Given the description of an element on the screen output the (x, y) to click on. 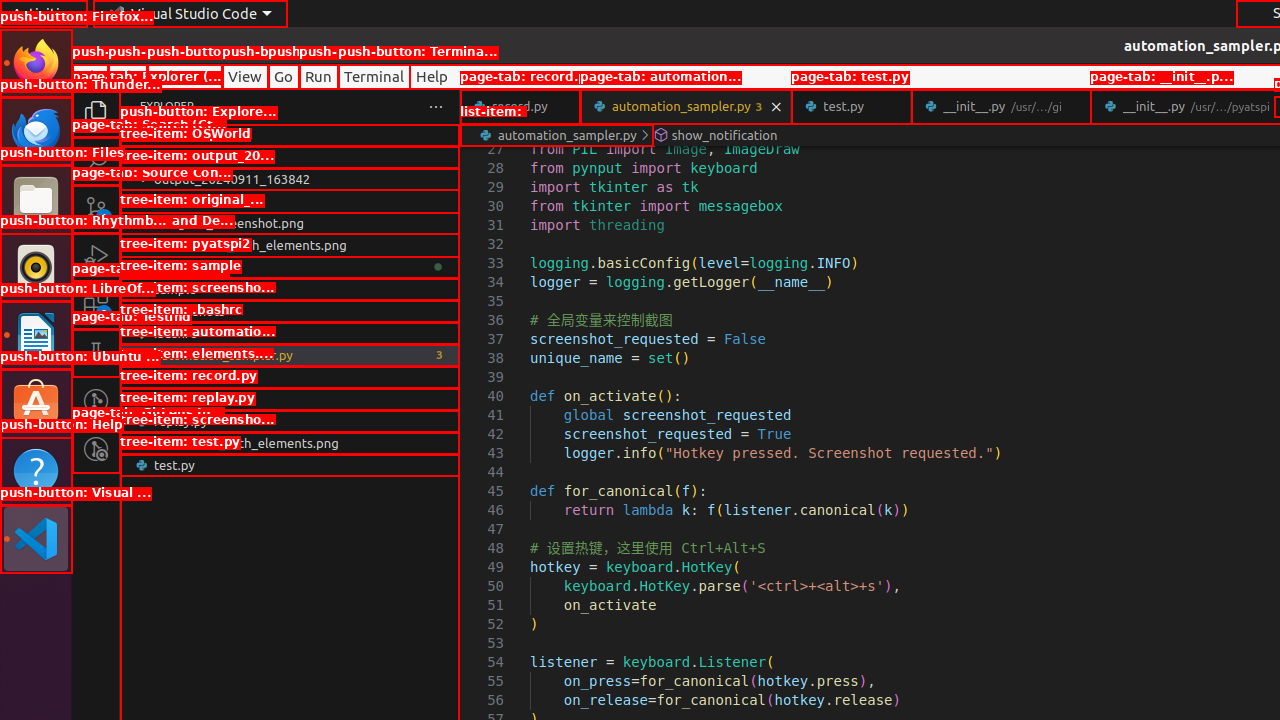
File Element type: push-button (90, 76)
Source Control (Ctrl+Shift+G G) - 1 pending changes Element type: page-tab (96, 208)
screenshot_with_elements.png Element type: tree-item (289, 443)
GitLens Inspect Element type: page-tab (96, 449)
